Given the description of an element on the screen output the (x, y) to click on. 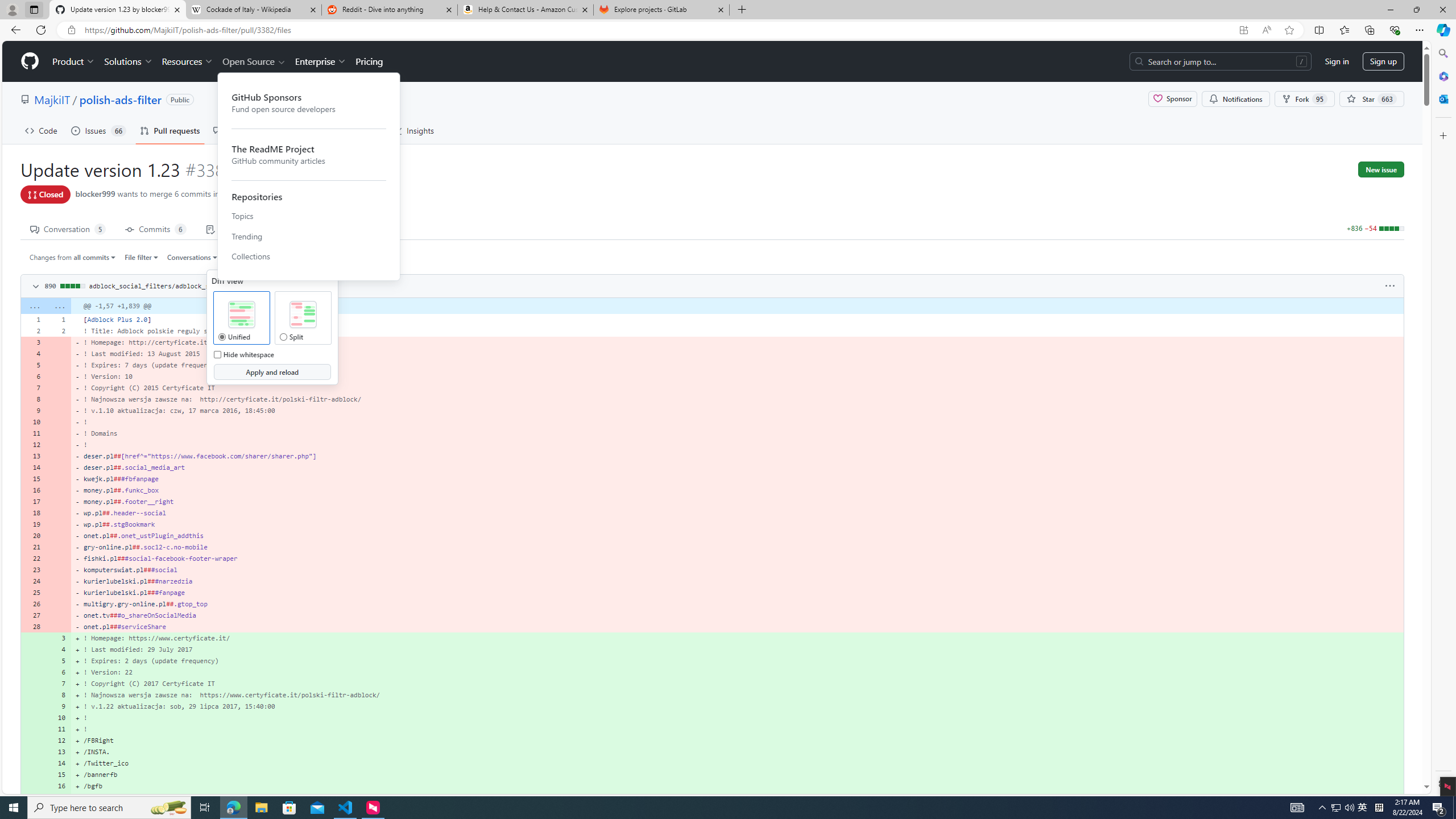
 Conversation 5 (68, 228)
1 (58, 319)
Actions (302, 130)
+ /Twitter_ico  (737, 763)
+ /INSTA.  (737, 751)
GitHub SponsorsFund open source developers (309, 102)
MajkiIT (51, 99)
Apply and reload (271, 371)
blocker999 : master (340, 195)
Sign up (1382, 61)
21 (33, 546)
